Given the description of an element on the screen output the (x, y) to click on. 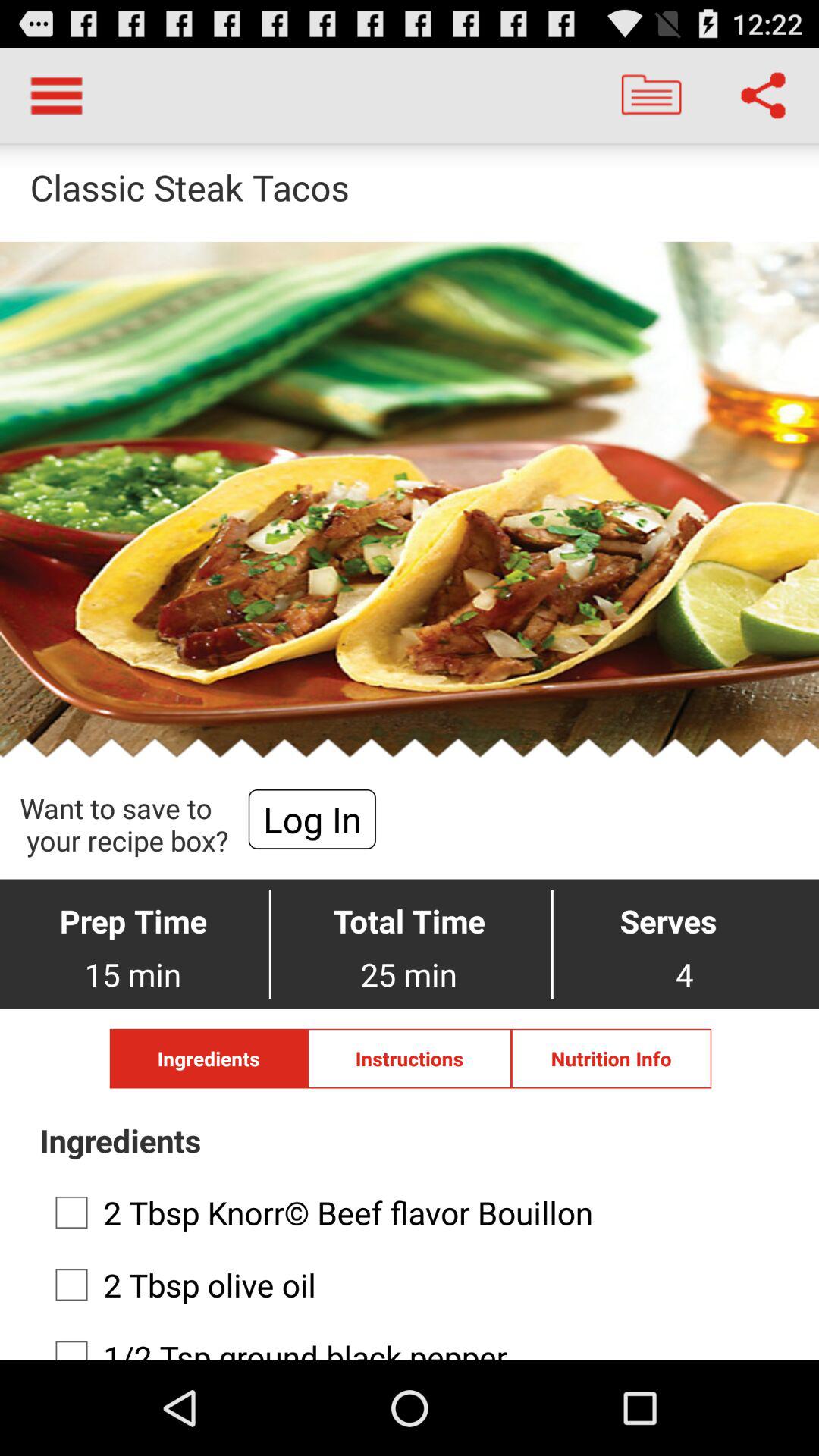
press 1 2 tsp checkbox (404, 1342)
